Given the description of an element on the screen output the (x, y) to click on. 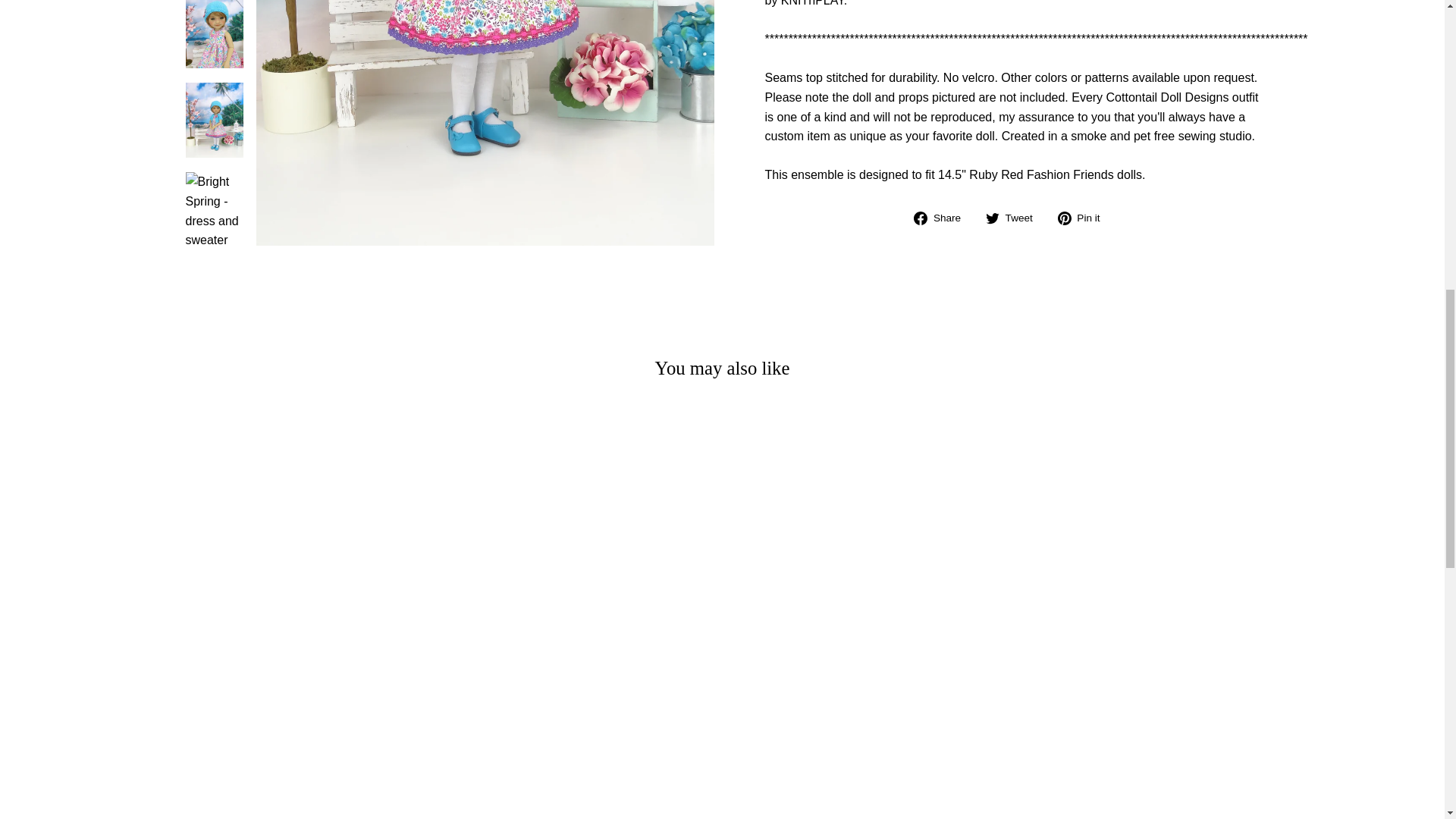
twitter (991, 218)
Tweet on Twitter (1014, 217)
Share on Facebook (943, 217)
Pin on Pinterest (1085, 217)
